Given the description of an element on the screen output the (x, y) to click on. 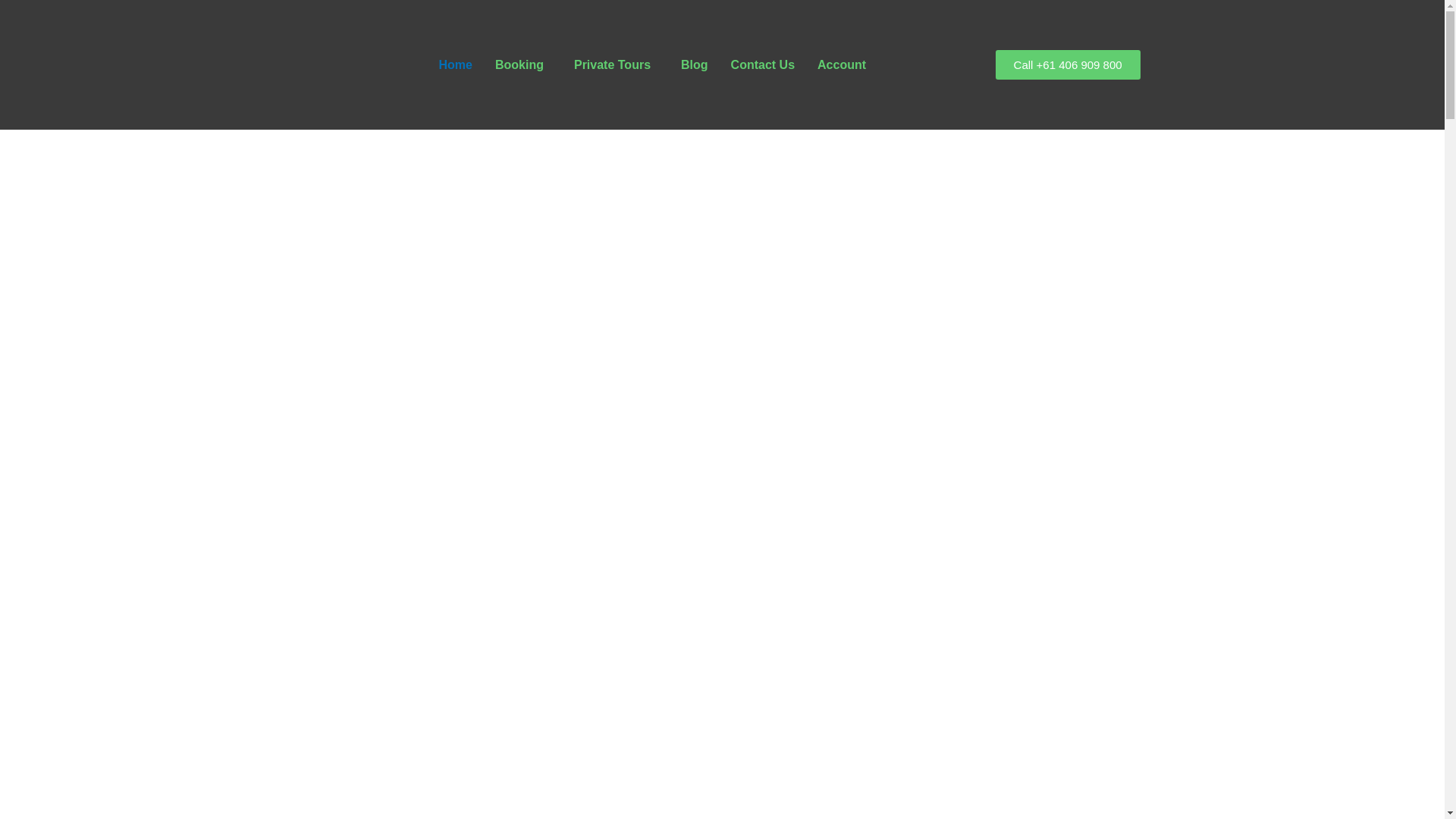
Home Element type: text (455, 64)
Booking Element type: text (522, 64)
Call +61 406 909 800 Element type: text (1067, 64)
Contact Us Element type: text (762, 64)
Account Element type: text (841, 64)
Blog Element type: text (694, 64)
Private Tours Element type: text (615, 64)
